Given the description of an element on the screen output the (x, y) to click on. 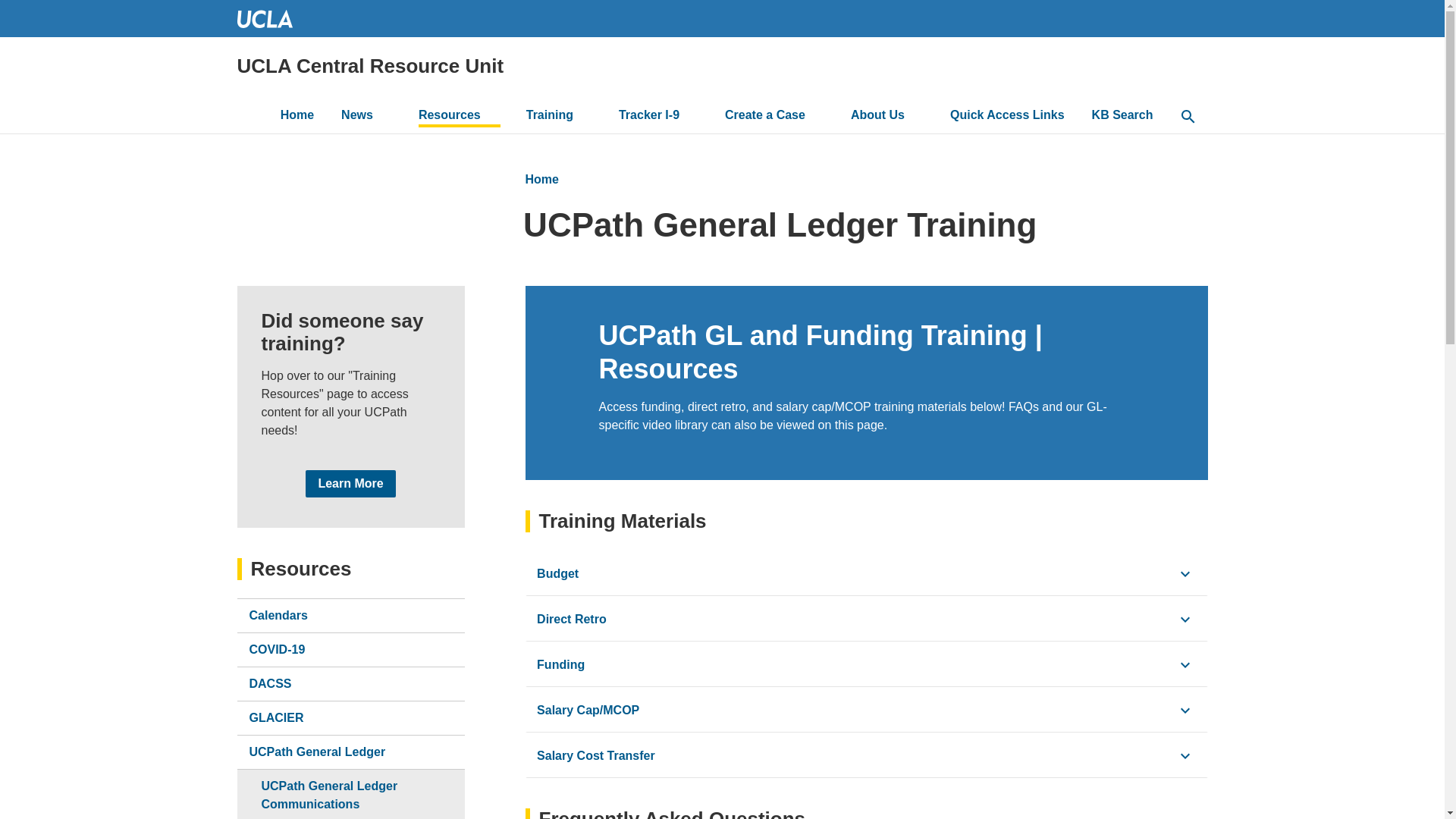
Training (558, 116)
UCLA Central Resource Unit (369, 66)
Resources (458, 116)
Home (369, 66)
Tracker I-9 Resource Page (658, 116)
News (366, 116)
Search Icon (1187, 116)
Home (296, 116)
